Given the description of an element on the screen output the (x, y) to click on. 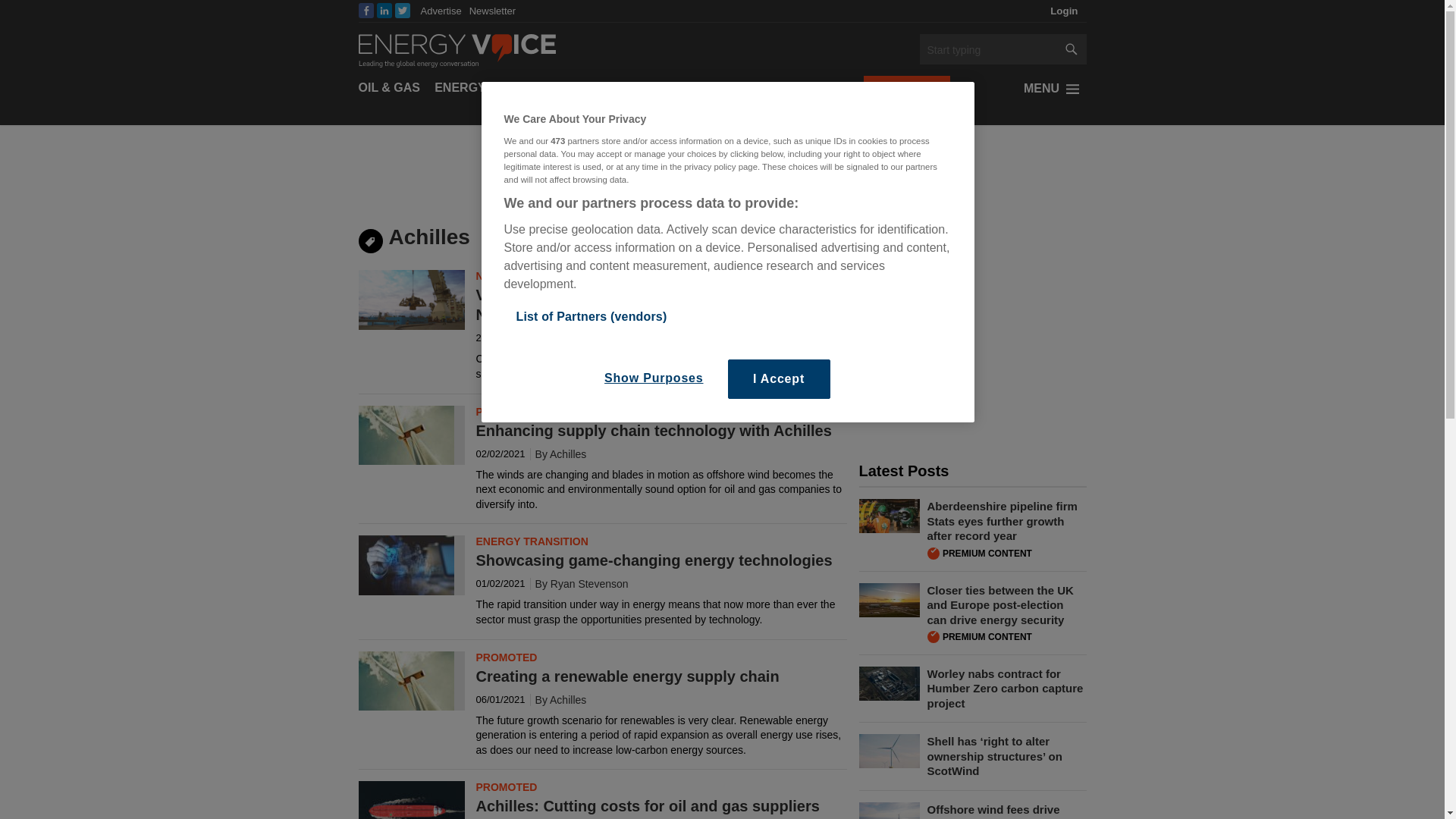
Advertise (440, 11)
MENU (1054, 87)
Twitter (401, 10)
Showcasing game-changing energy technologies (405, 566)
Energy Voice (456, 49)
Search (987, 50)
Newsletter (491, 11)
MARKETS (607, 87)
Enhancing supply chain technology with Achilles (405, 437)
Creating a renewable energy supply chain (405, 682)
Login (1064, 11)
Achilles: Cutting costs for oil and gas suppliers (411, 800)
Facebook (365, 10)
